Given the description of an element on the screen output the (x, y) to click on. 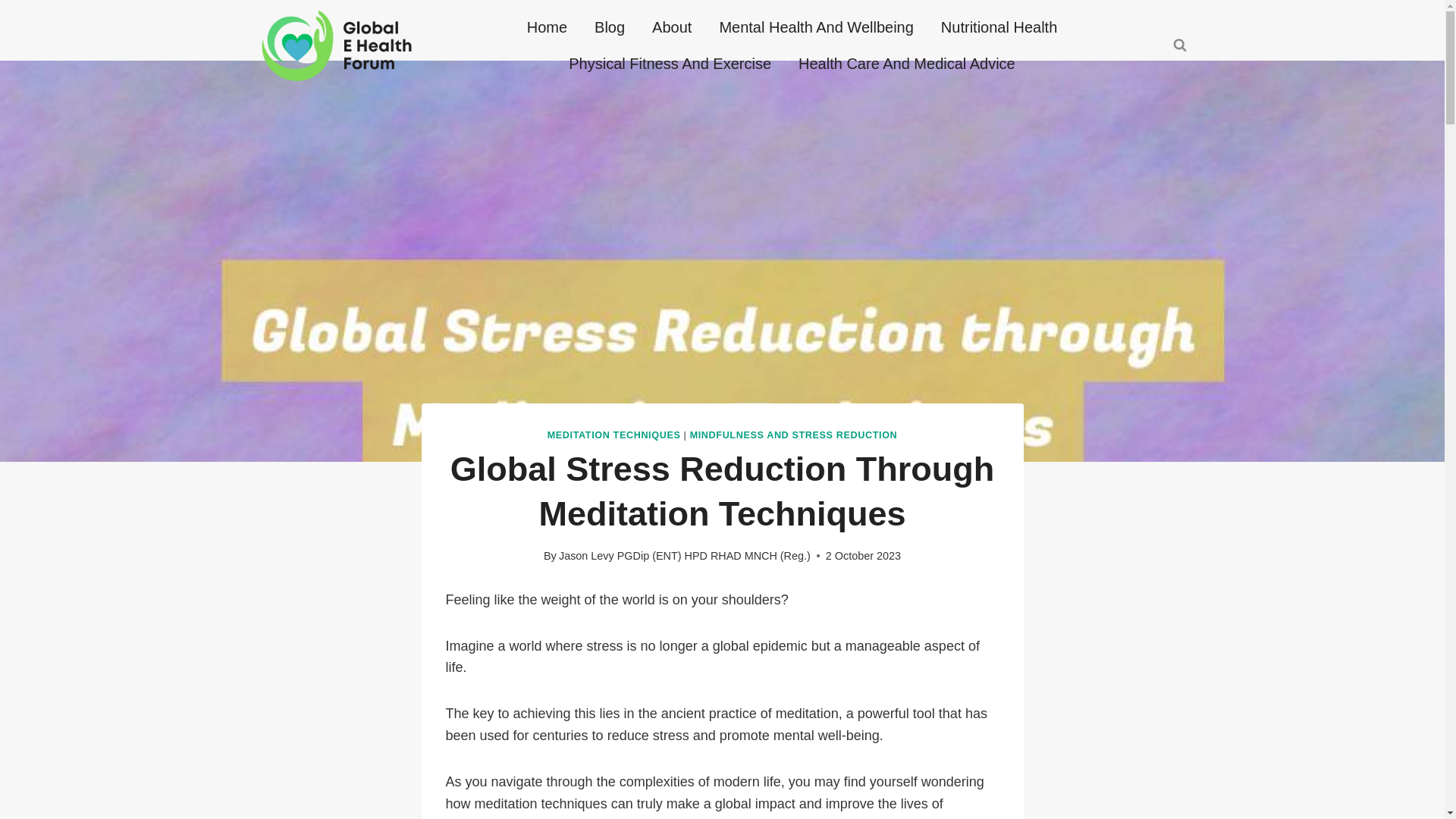
Home (546, 27)
About (671, 27)
MINDFULNESS AND STRESS REDUCTION (794, 434)
Physical Fitness And Exercise (669, 63)
Nutritional Health (998, 27)
MEDITATION TECHNIQUES (614, 434)
Mental Health And Wellbeing (815, 27)
Health Care And Medical Advice (906, 63)
Blog (609, 27)
